Given the description of an element on the screen output the (x, y) to click on. 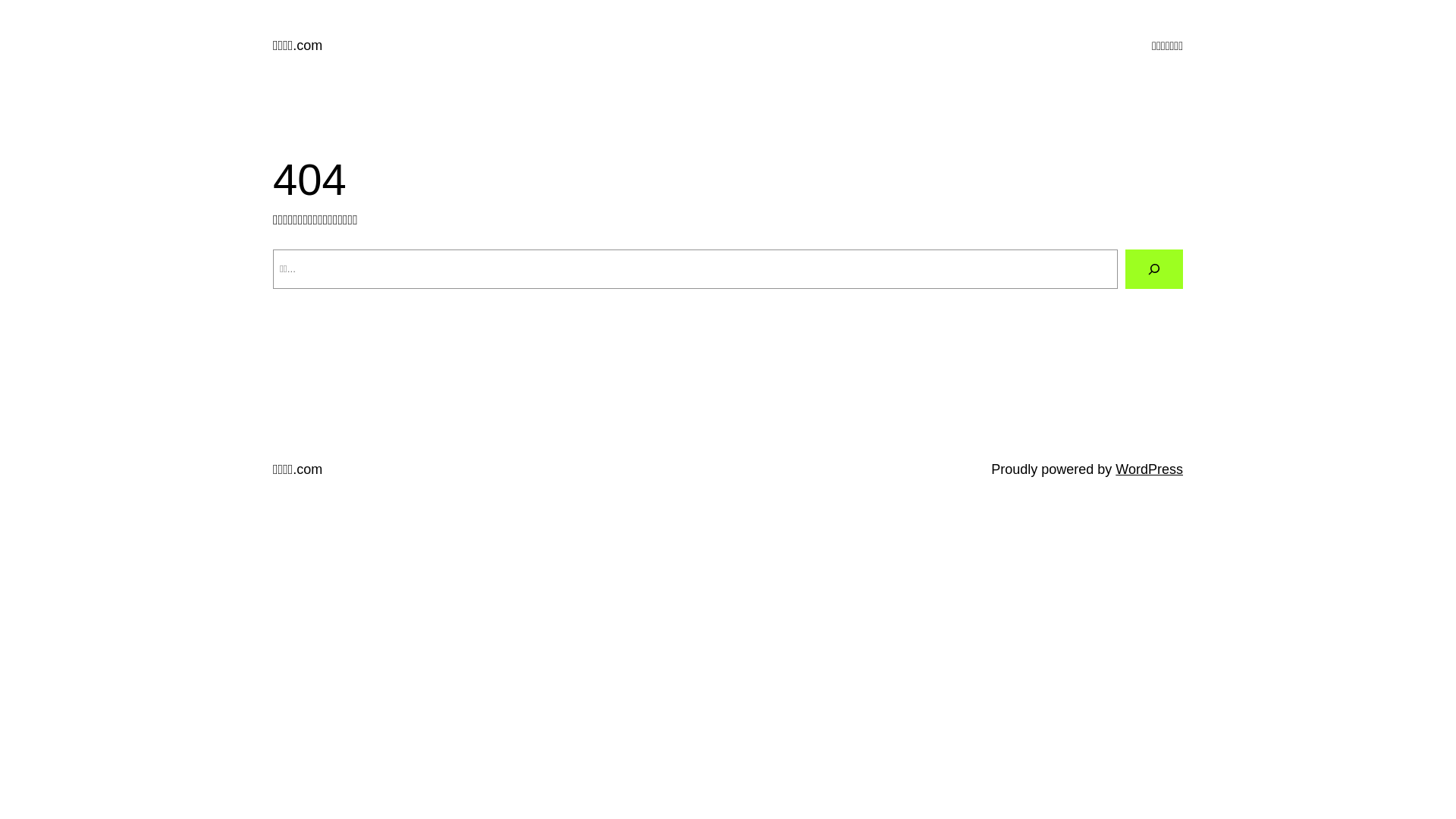
WordPress Element type: text (1149, 468)
